Given the description of an element on the screen output the (x, y) to click on. 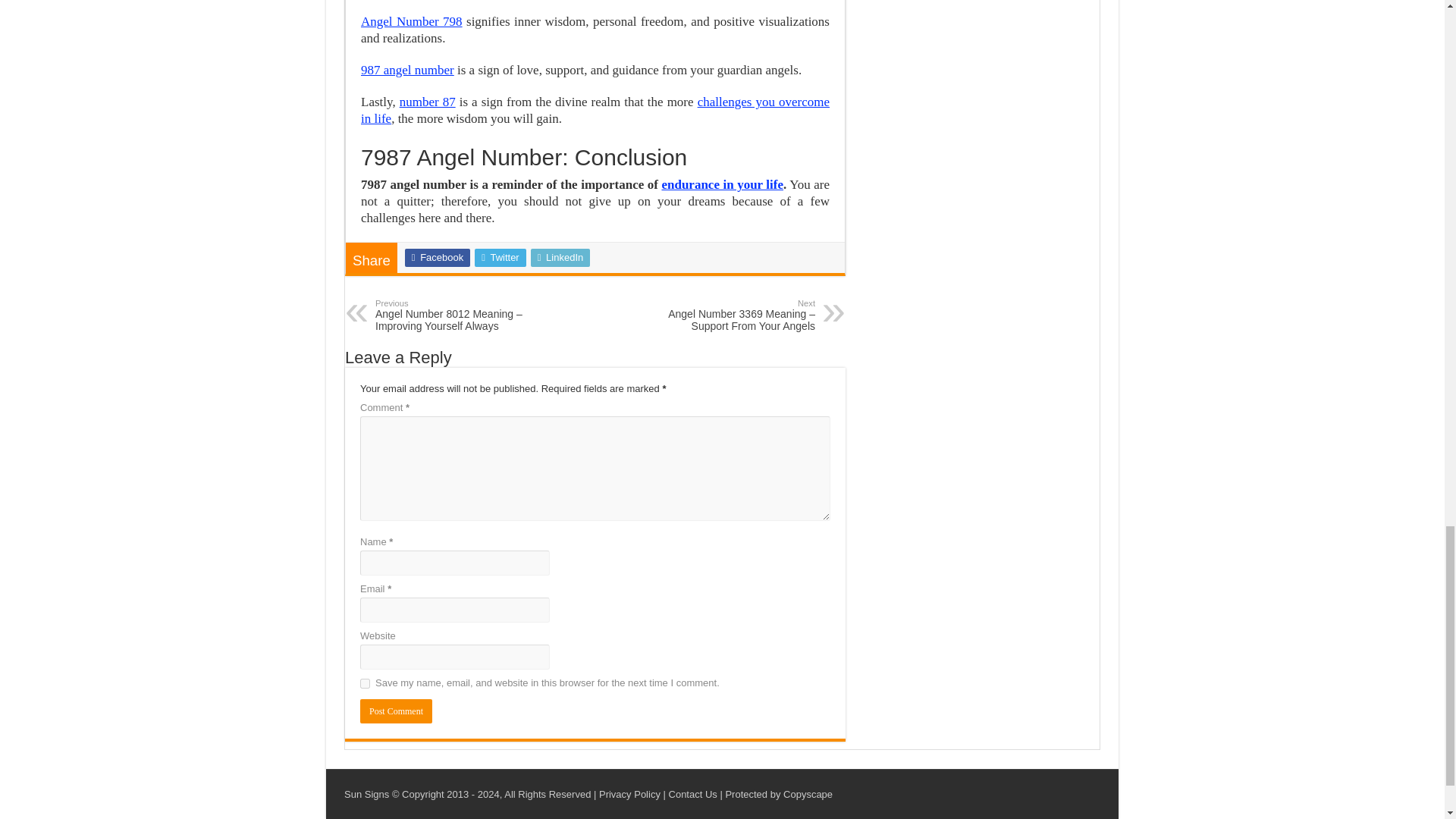
Facebook (437, 257)
yes (364, 683)
Post Comment (395, 711)
number 87 (426, 101)
987 angel number (407, 69)
Twitter (499, 257)
endurance in your life (722, 184)
Angel Number 798 (412, 21)
LinkedIn (561, 257)
challenges you overcome in life (595, 110)
